Given the description of an element on the screen output the (x, y) to click on. 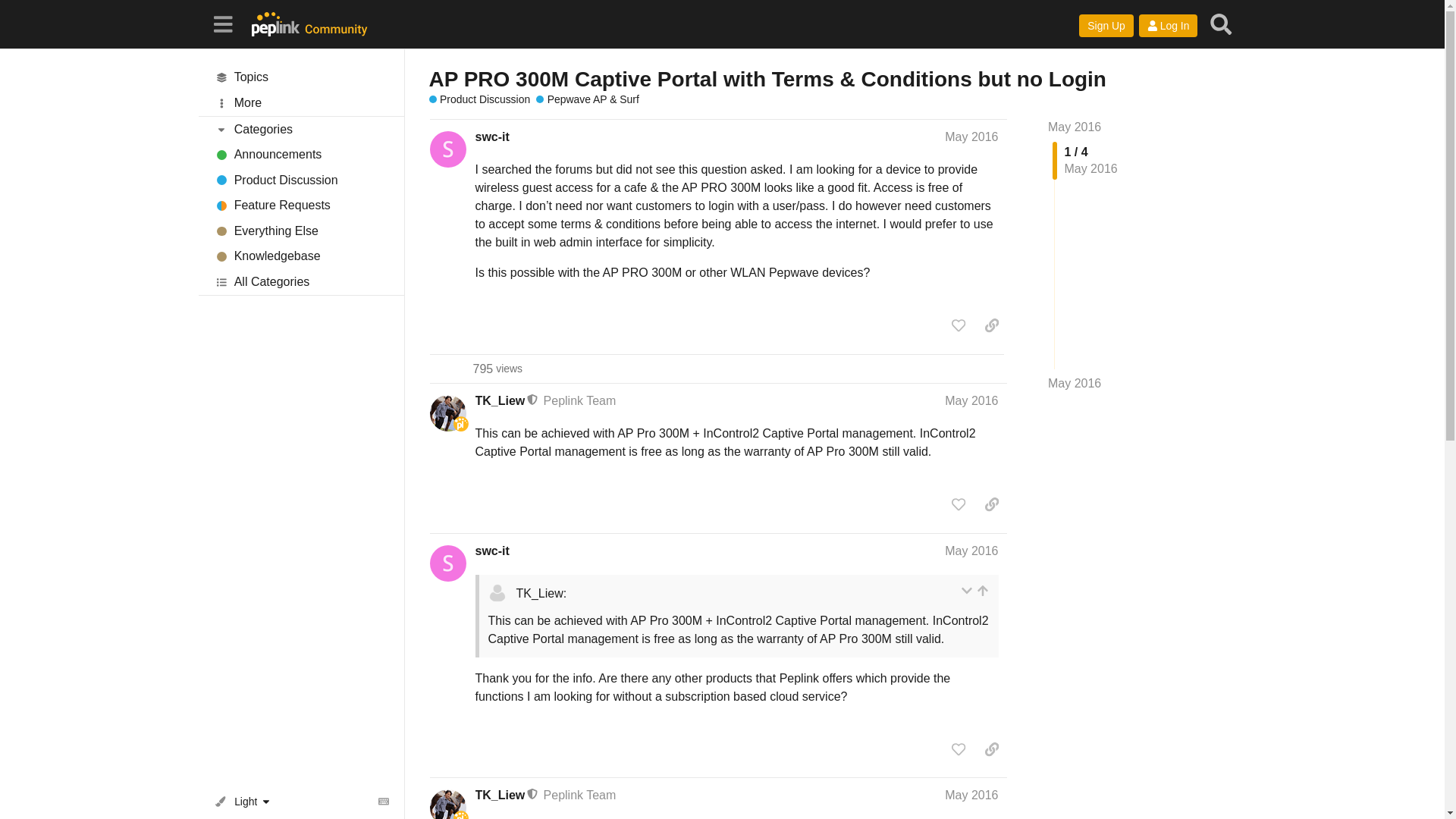
May 2016 (970, 136)
Light (245, 801)
Announcements (301, 154)
Feature Requests (496, 368)
All Topics (301, 206)
Topics (301, 77)
Toggle section (301, 77)
